Given the description of an element on the screen output the (x, y) to click on. 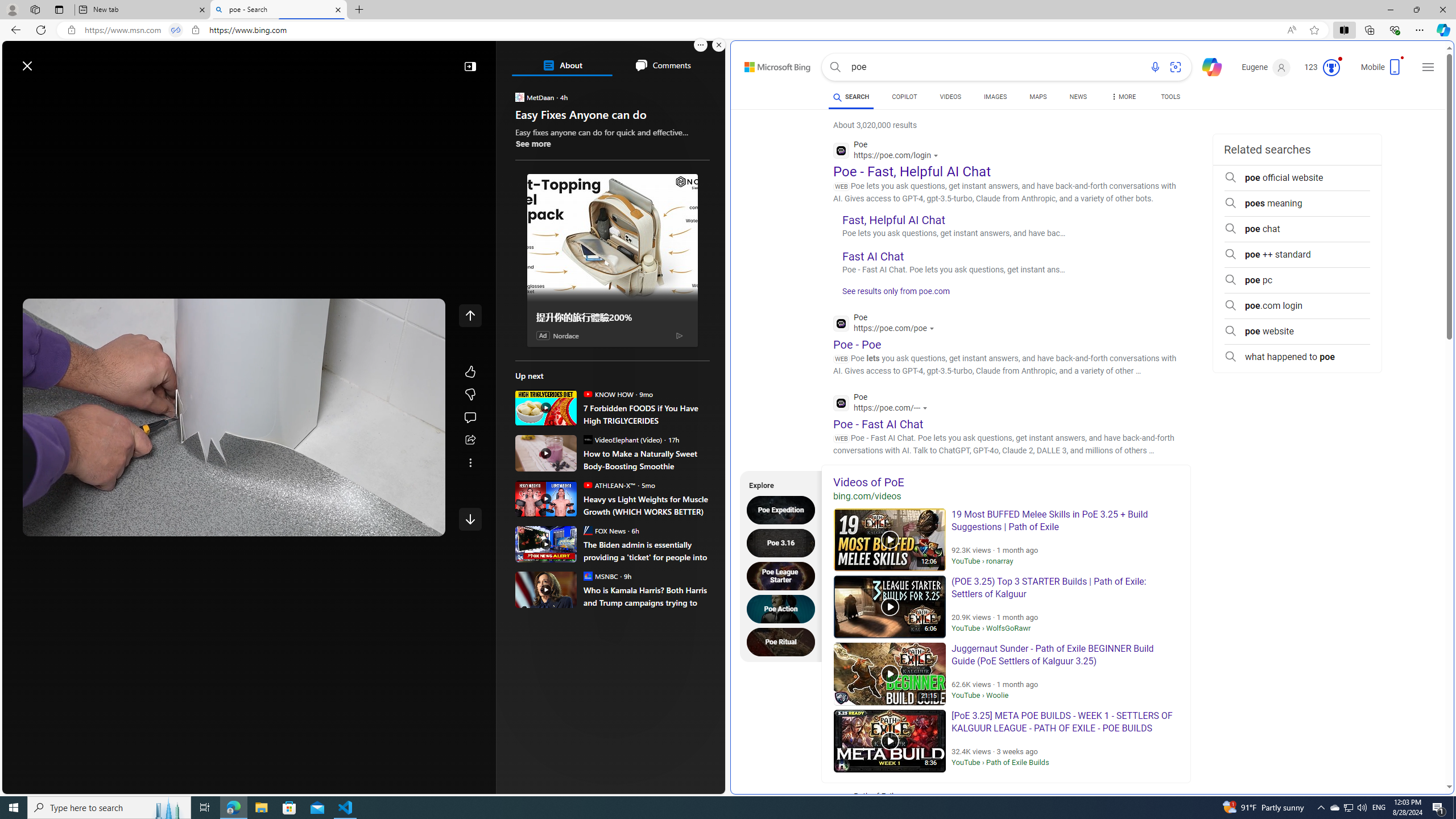
Class: button-glyph (16, 92)
Poe League Starter (783, 575)
KNOW HOW (587, 393)
KNOW HOW KNOW HOW (607, 393)
COPILOT (903, 98)
poe.com login (1297, 305)
